Given the description of an element on the screen output the (x, y) to click on. 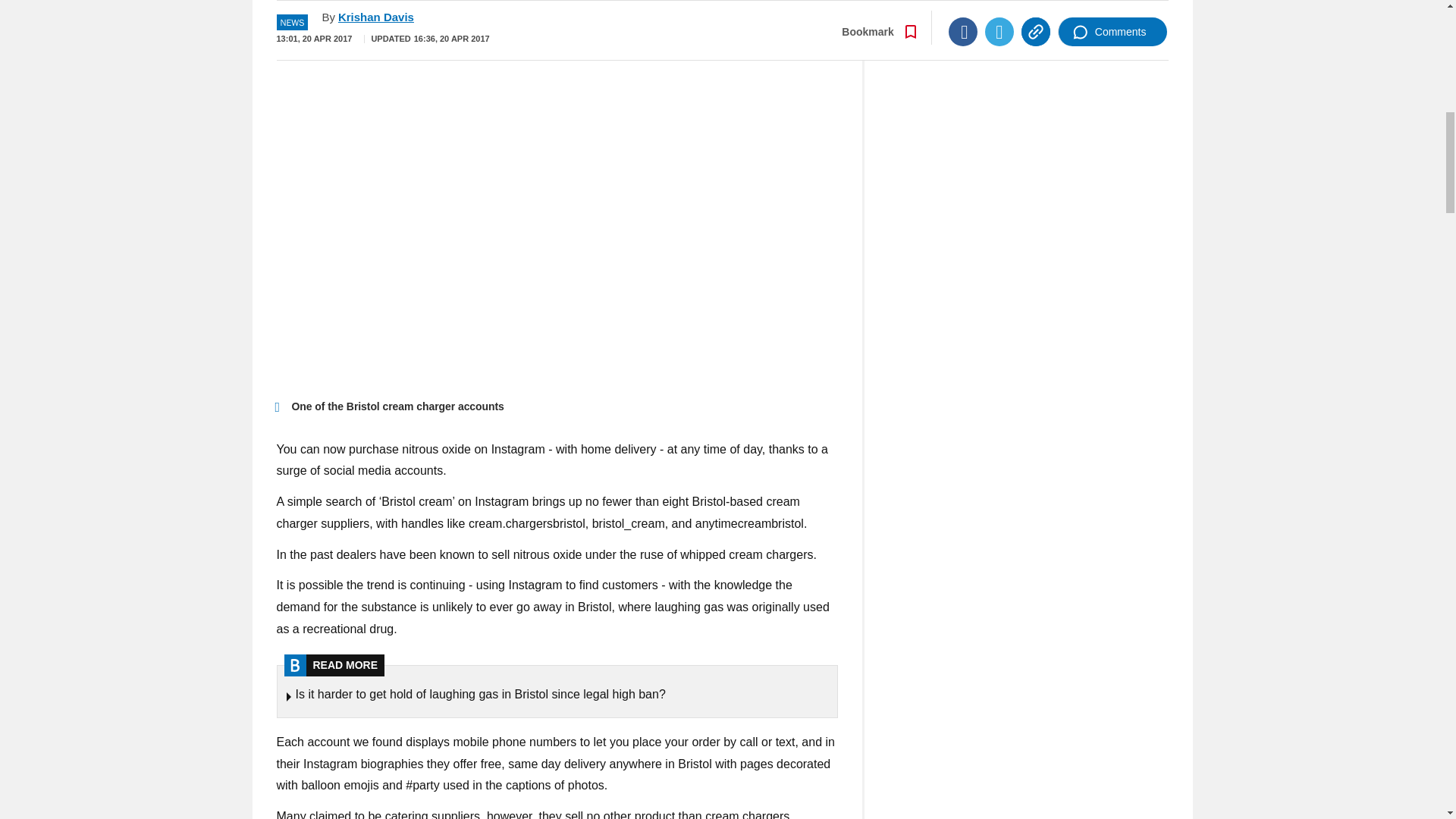
Go (730, 2)
